Given the description of an element on the screen output the (x, y) to click on. 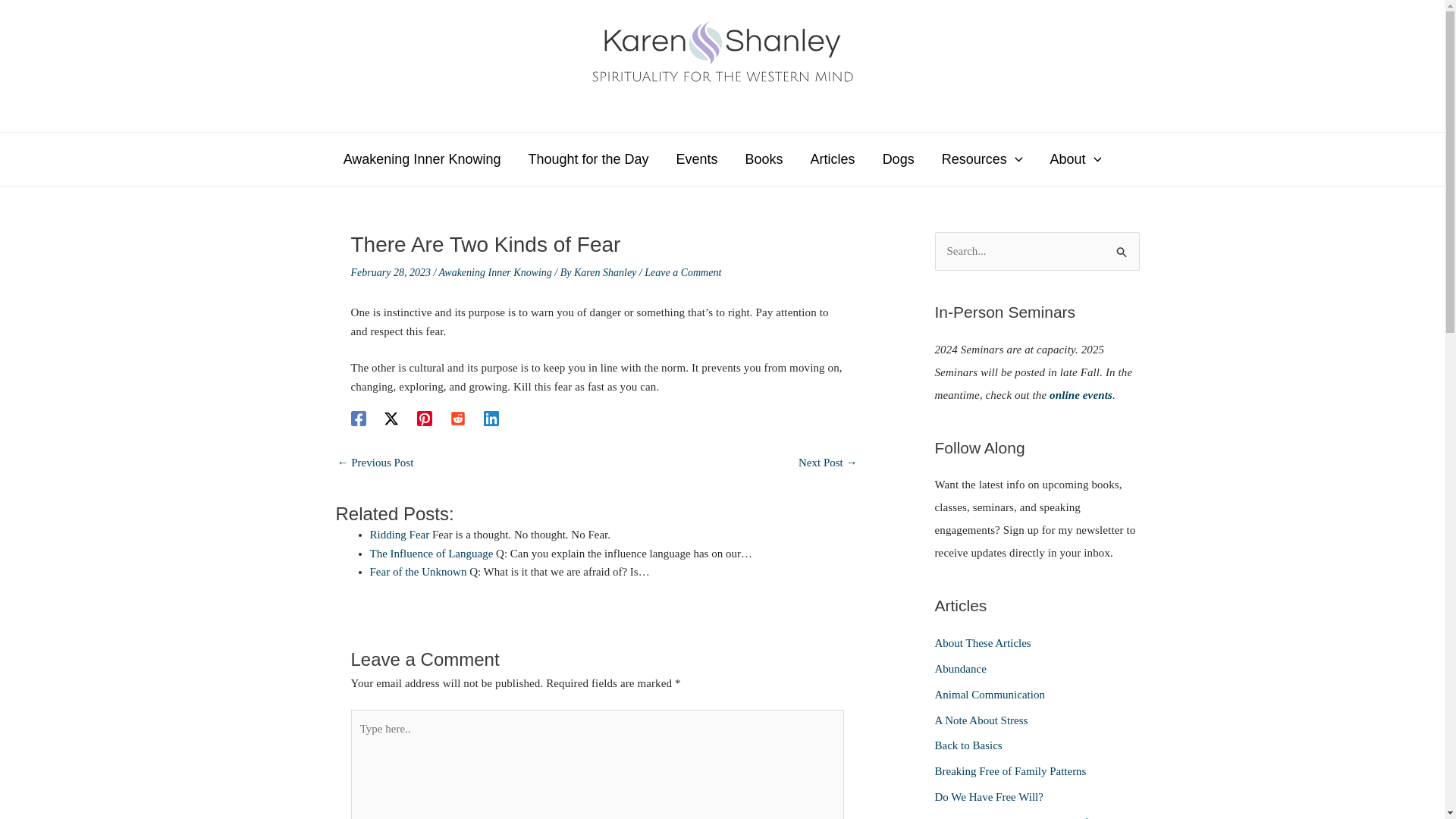
Search (1122, 246)
What to Feed a Puppy Who Is a Picky Eater (374, 464)
Events (697, 158)
View all posts by Karen Shanley (606, 272)
About (1075, 158)
Leave a Comment (682, 272)
Karen Shanley (676, 100)
Thought for the Day (587, 158)
Articles (832, 158)
Resources (982, 158)
Dogs (898, 158)
Awakening Inner Knowing (422, 158)
Search (1122, 246)
Awakening Inner Knowing (495, 272)
Karen Shanley (606, 272)
